Given the description of an element on the screen output the (x, y) to click on. 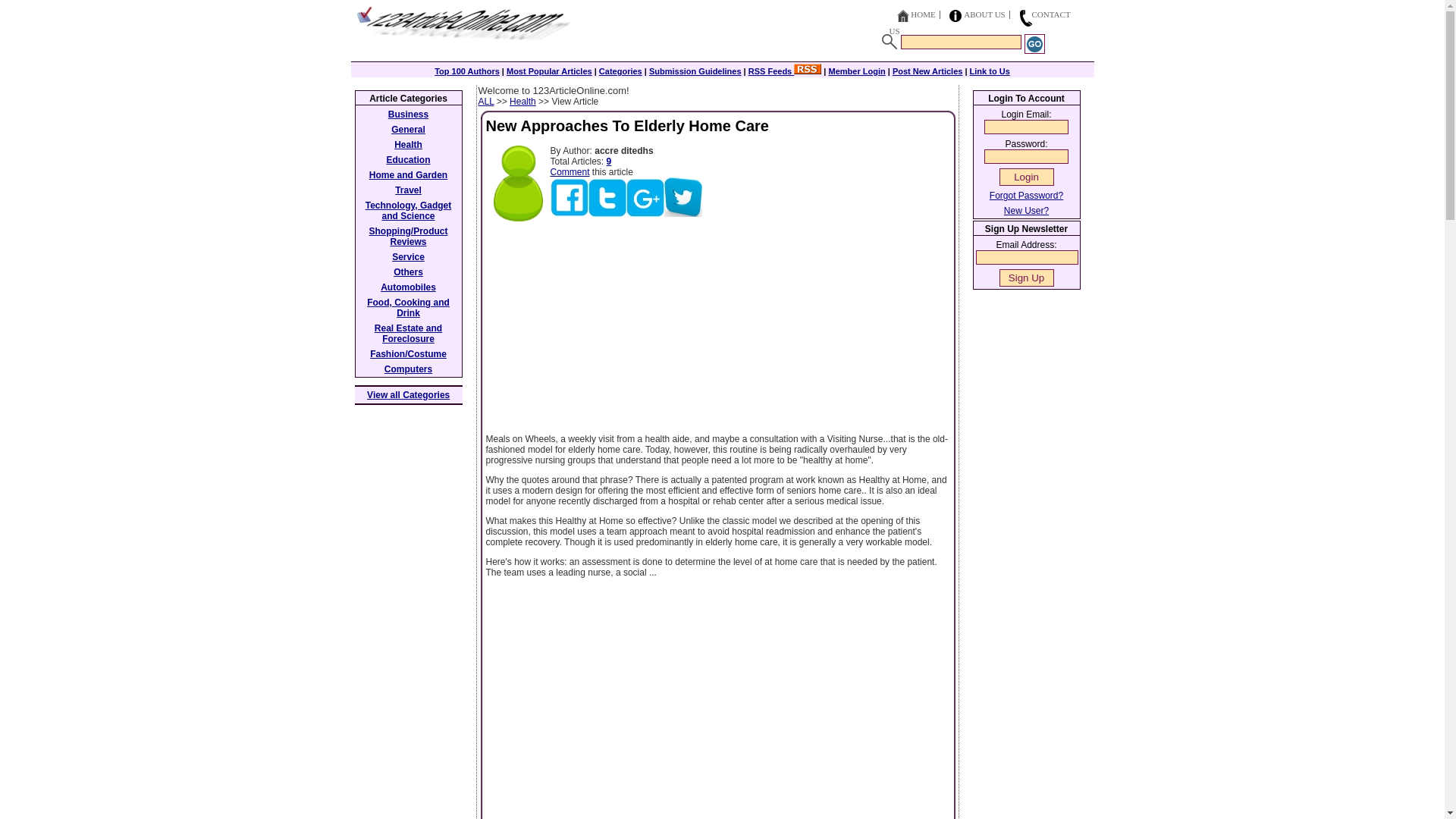
Advertisement (415, 616)
Submission Guidelines (695, 71)
Comment (569, 172)
Health (522, 101)
Categories (620, 71)
9 (609, 161)
Most Popular Articles (549, 71)
ALL (485, 101)
Top 100 Authors (466, 71)
